Given the description of an element on the screen output the (x, y) to click on. 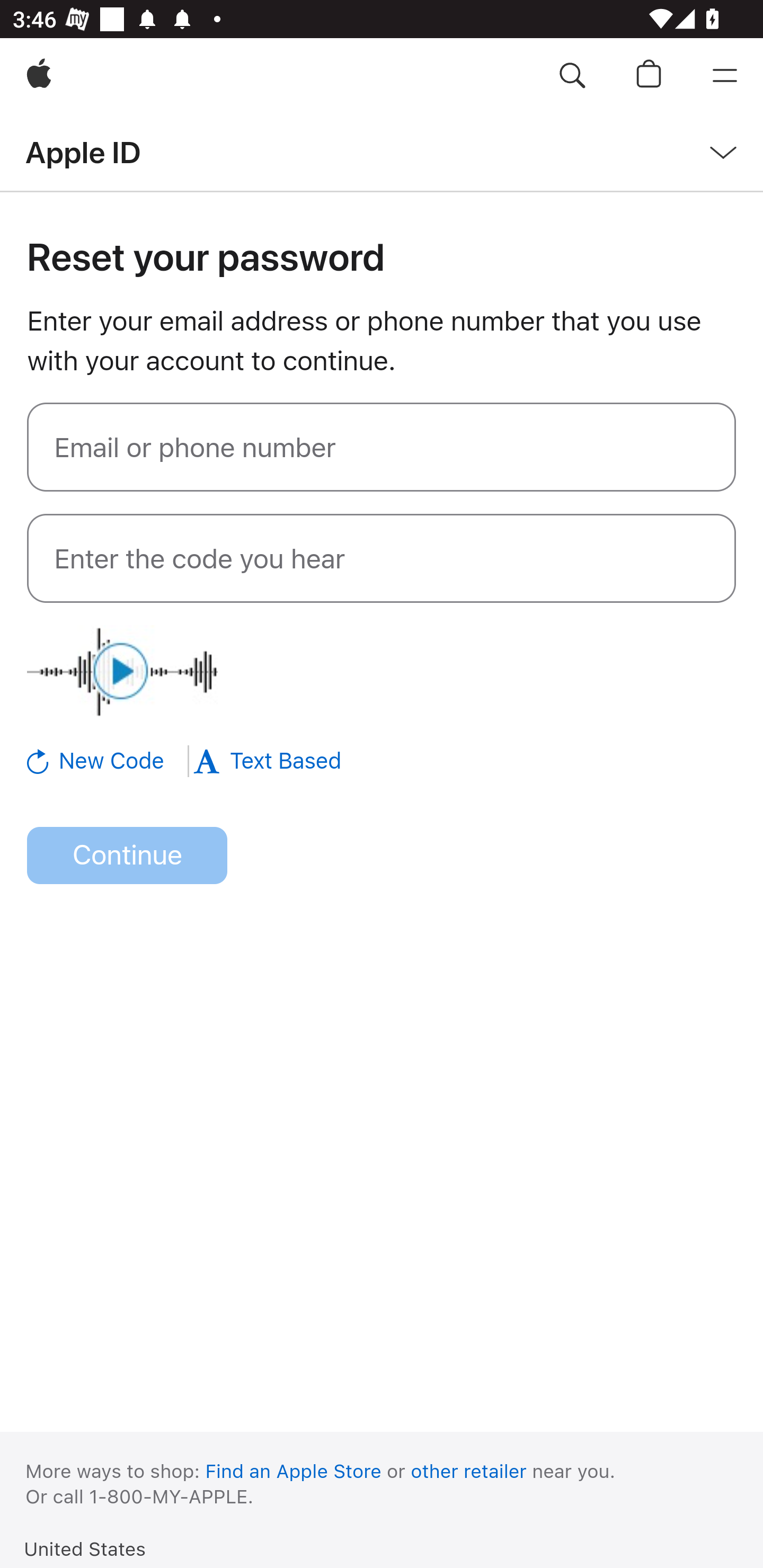
Apple (38, 75)
Search apple.com (572, 75)
Shopping Bag (648, 75)
Menu (724, 75)
Apple ID (83, 151)
Play audio challenge (121, 671)
 New Code (108, 760)
 Text Based (266, 760)
Continue (126, 855)
Find an Apple Store (293, 1470)
other retailer (468, 1470)
United States (84, 1548)
